Given the description of an element on the screen output the (x, y) to click on. 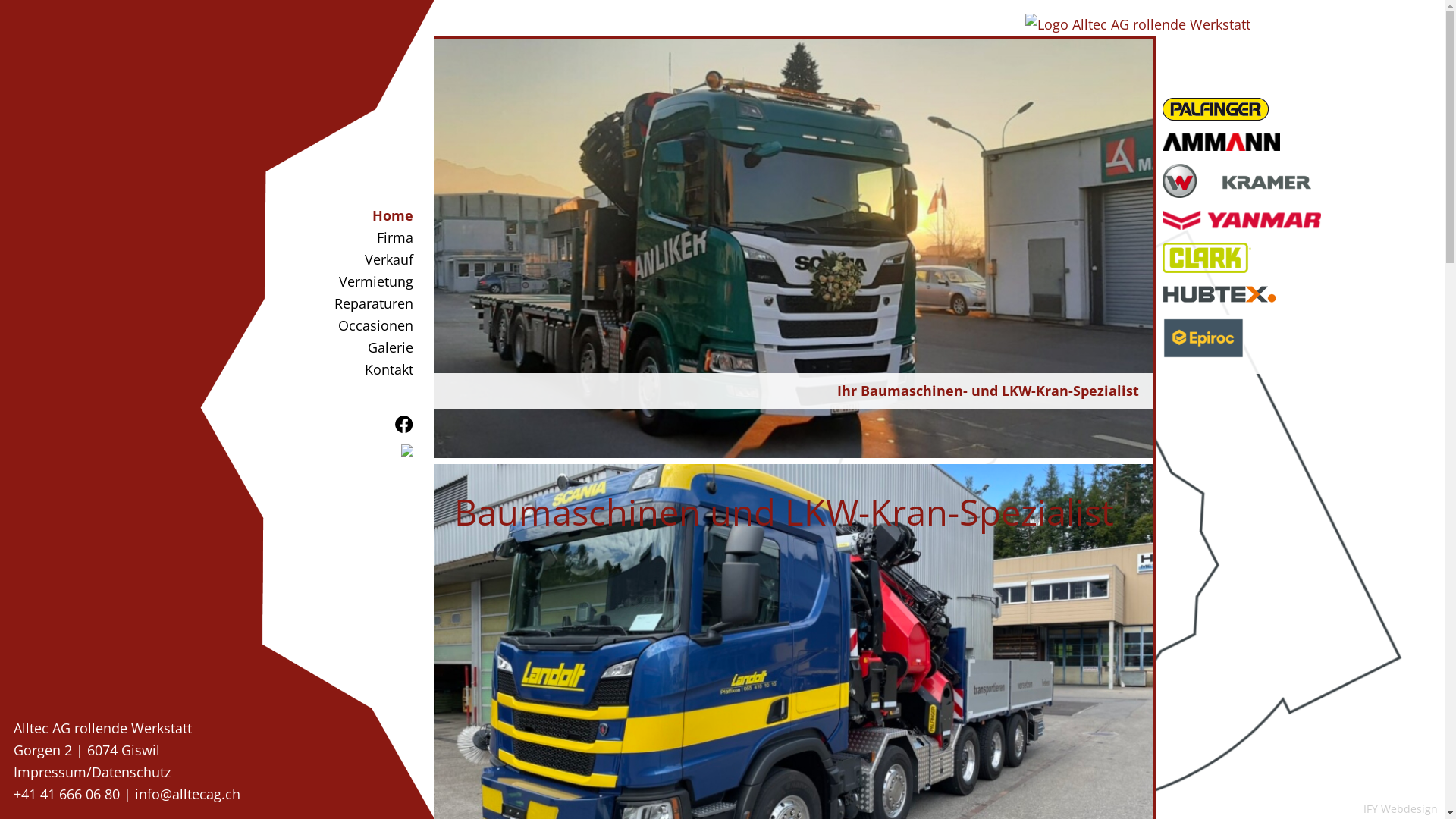
Tag der offenen T&uuml;r.mp4 Element type: hover (642, 690)
Galerie Element type: text (372, 347)
Occasionen Element type: text (372, 325)
Facebook Alltec AG rollende Werkstatt Element type: hover (403, 423)
Impressum/Datenschutz Element type: text (91, 771)
Reparaturen Element type: text (372, 303)
IFY Webdesign Element type: text (1400, 808)
Verkauf Element type: text (372, 259)
Vermietung Element type: text (372, 281)
Firma Element type: text (372, 237)
info@alltecag.ch Element type: text (187, 793)
Kontakt Element type: text (372, 369)
Home Element type: text (372, 215)
